Given the description of an element on the screen output the (x, y) to click on. 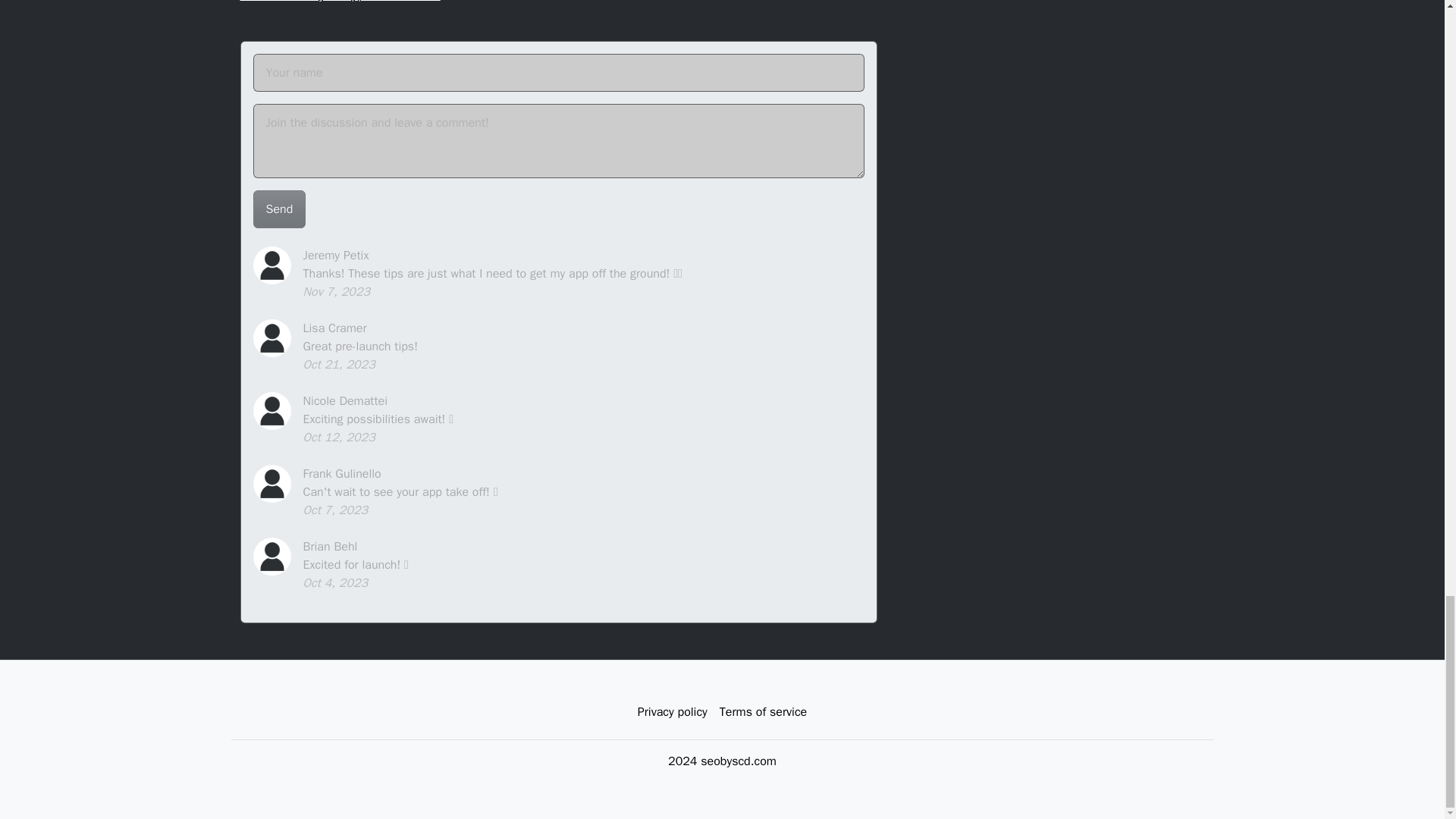
Send (279, 209)
Send (279, 209)
how to market your app before launch (339, 1)
